Given the description of an element on the screen output the (x, y) to click on. 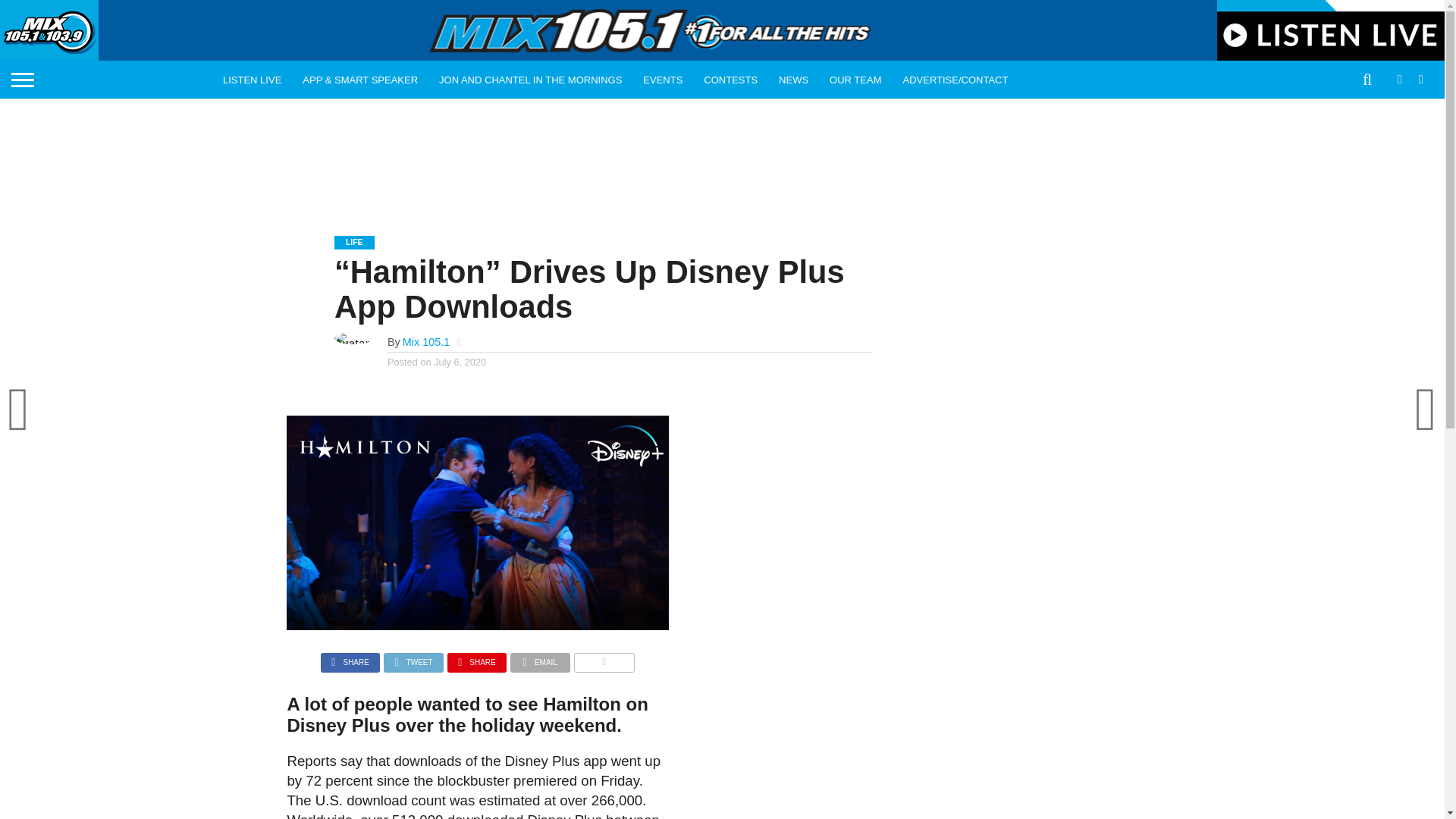
EMAIL (540, 658)
Mix 105.1 (426, 341)
Pin This Post (476, 658)
EVENTS (662, 79)
NEWS (793, 79)
CONTESTS (730, 79)
JON AND CHANTEL IN THE MORNINGS (529, 79)
Advertisement (721, 156)
Posts by Mix 105.1 (426, 341)
SHARE (350, 658)
